Given the description of an element on the screen output the (x, y) to click on. 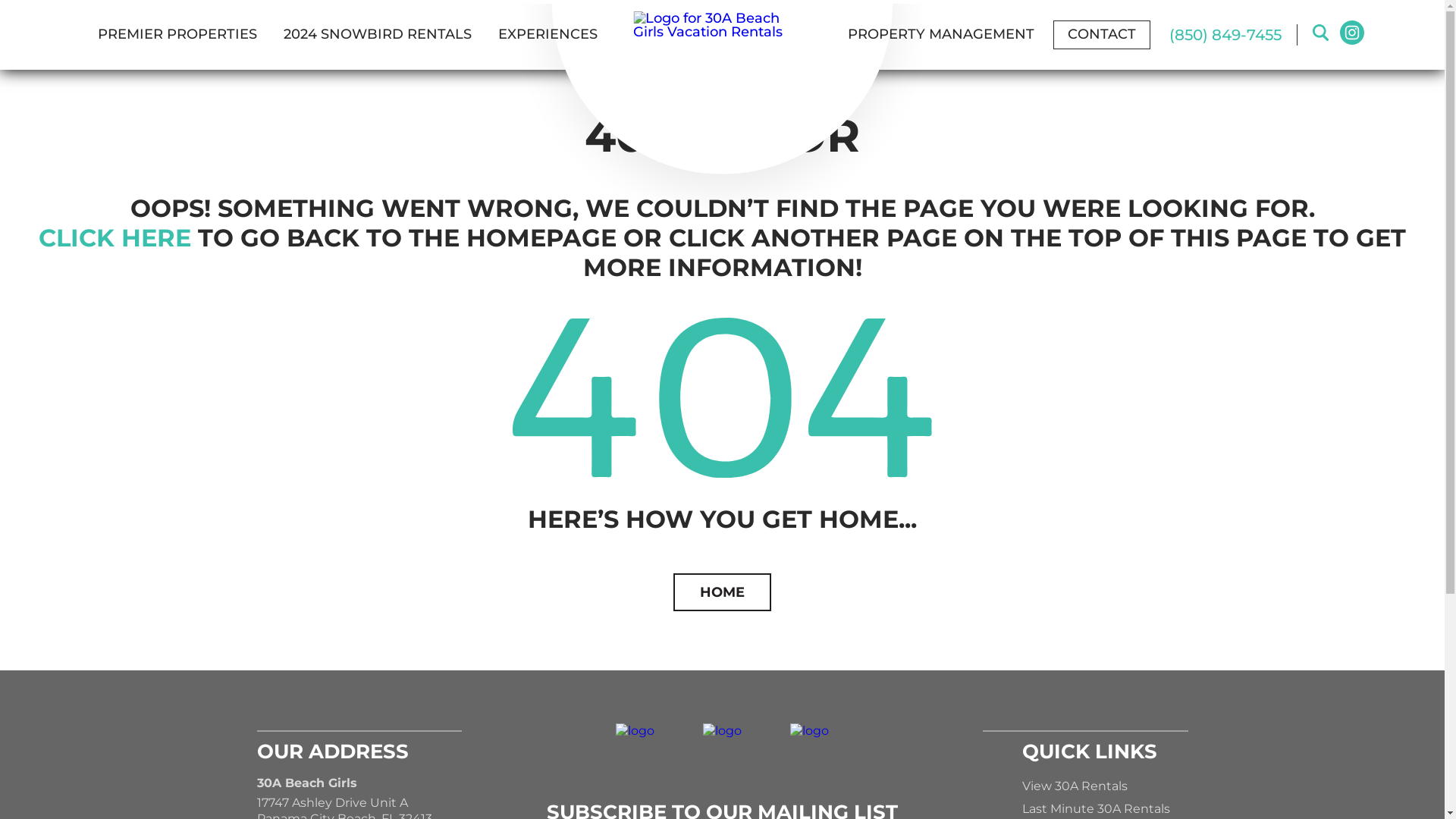
30A Beach Girls Vacation Rentals - Logo Element type: hover (722, 24)
(850) 849-7455 Element type: text (1225, 34)
Last Minute 30A Rentals Element type: text (1096, 808)
PREMIER PROPERTIES Element type: text (177, 34)
PROPERTY MANAGEMENT Element type: text (939, 34)
CLICK HERE Element type: text (114, 237)
View 30A Rentals Element type: text (1074, 785)
CONTACT Element type: text (1100, 34)
2024 SNOWBIRD RENTALS Element type: text (376, 34)
EXPERIENCES Element type: text (547, 34)
HOME Element type: text (722, 592)
